Given the description of an element on the screen output the (x, y) to click on. 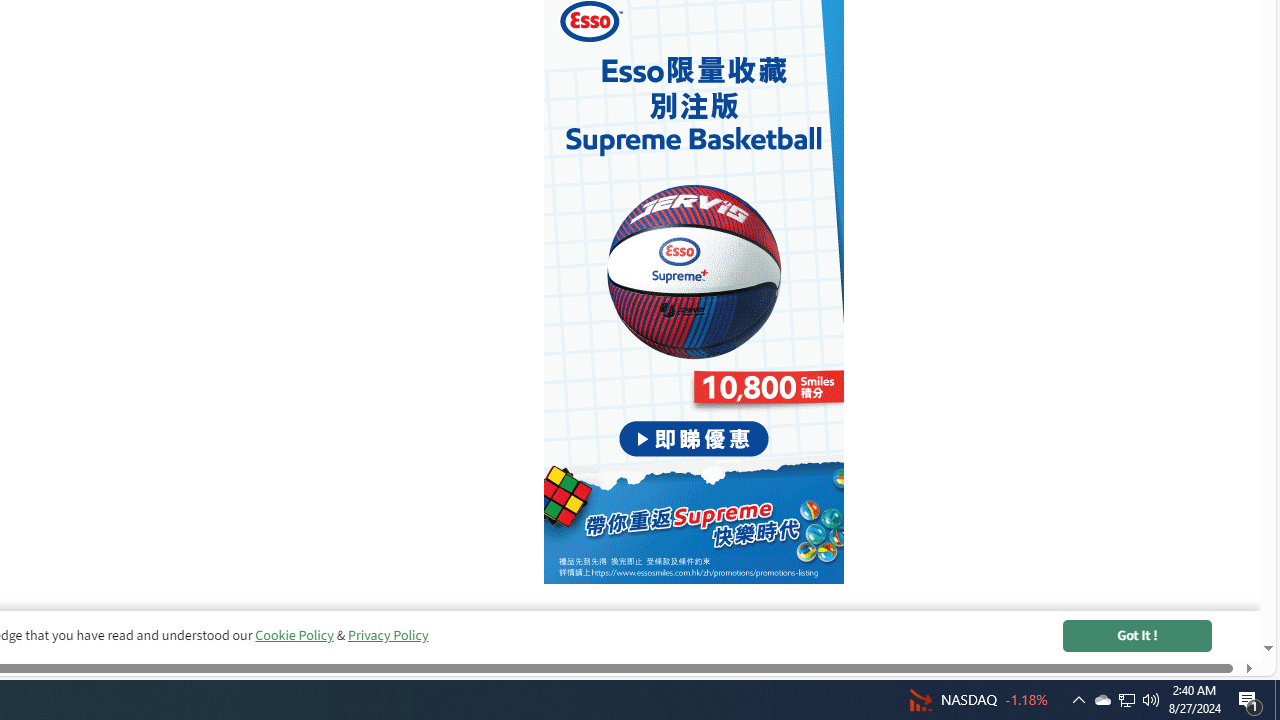
Got It ! (1137, 635)
Privacy Policy (387, 635)
Cookie Policy (294, 635)
